Given the description of an element on the screen output the (x, y) to click on. 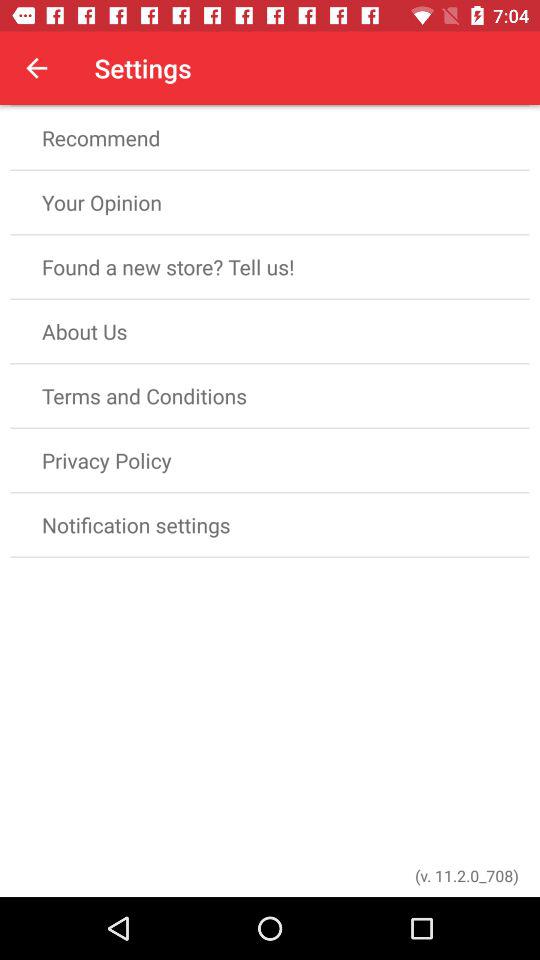
turn off rate app item (269, 73)
